Given the description of an element on the screen output the (x, y) to click on. 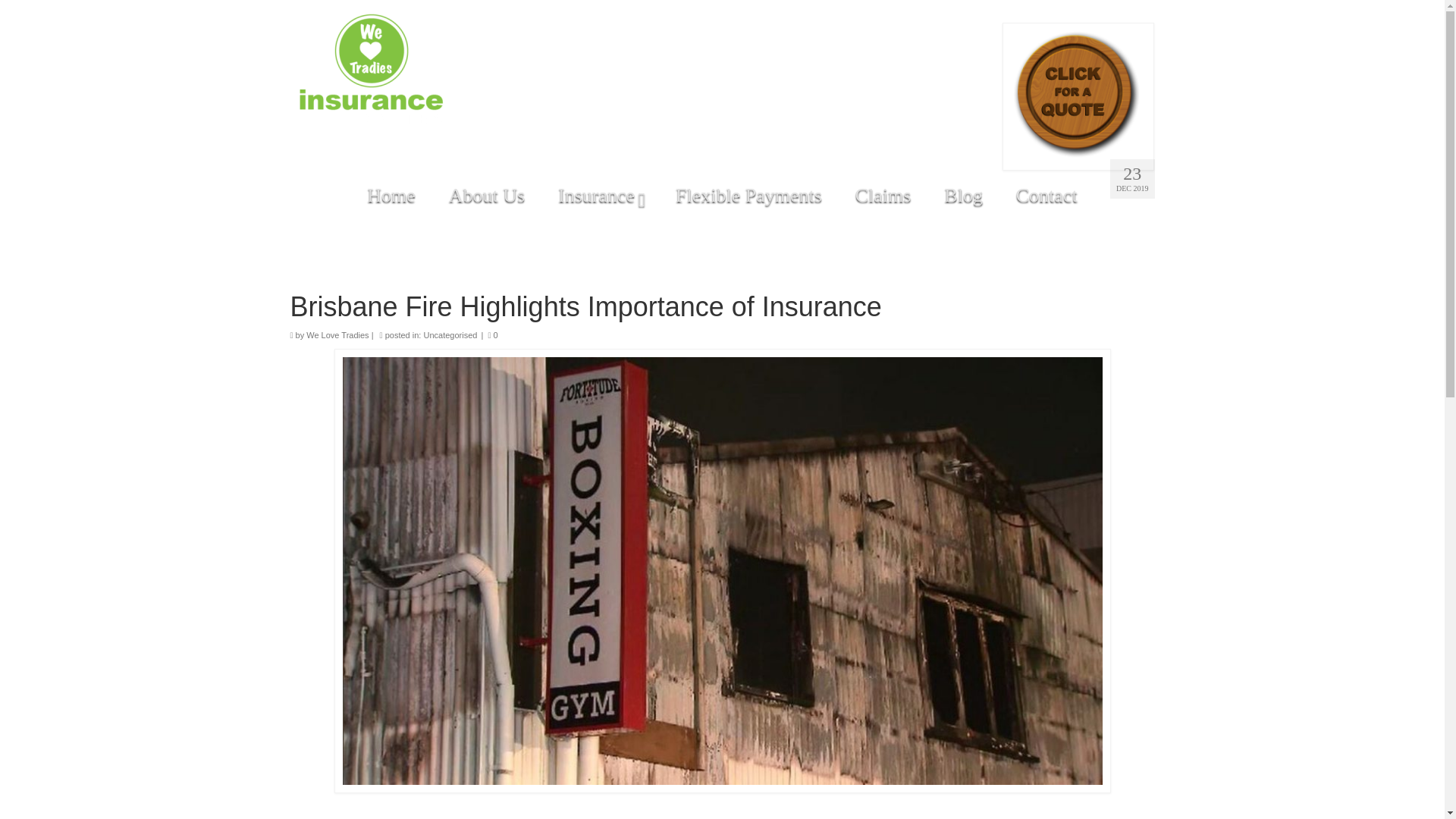
We Love Tradies (336, 334)
Insurance (600, 195)
Claims (883, 195)
Uncategorised (450, 334)
0 (492, 334)
Home (391, 195)
Blog (962, 195)
About Us (486, 195)
Flexible Payments (749, 195)
Contact (1047, 195)
